Given the description of an element on the screen output the (x, y) to click on. 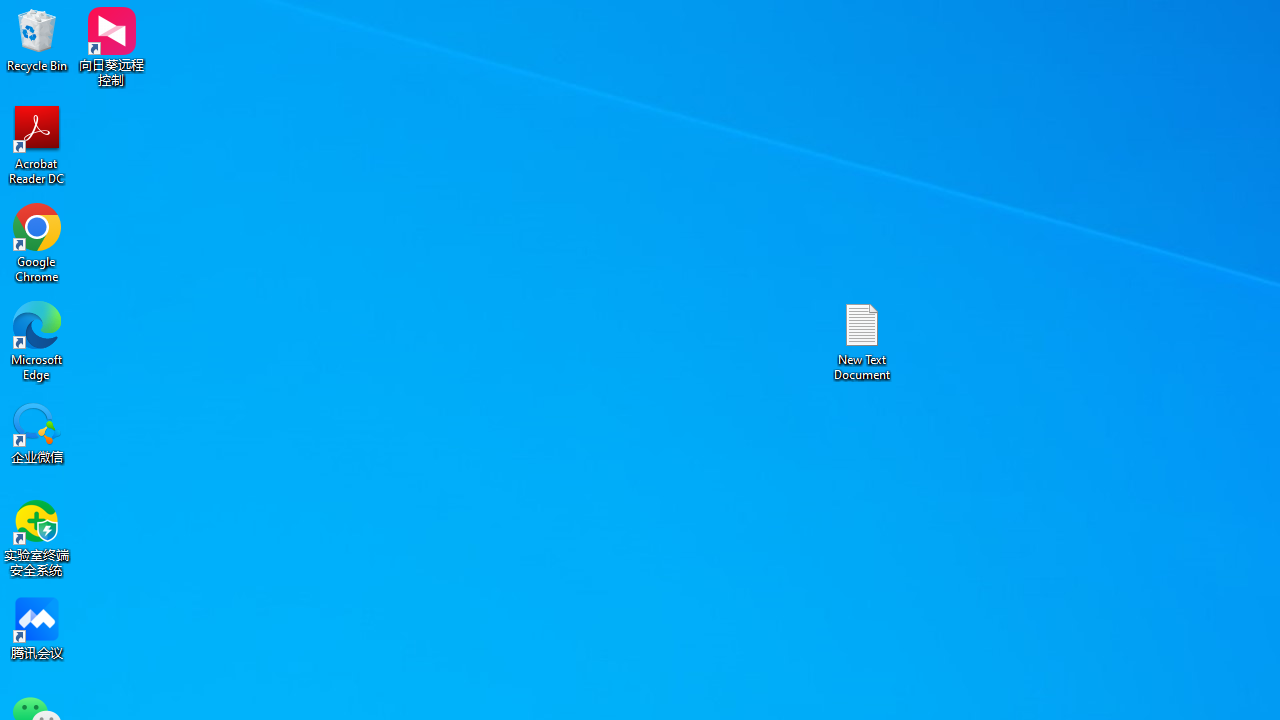
Microsoft Edge (37, 340)
Acrobat Reader DC (37, 144)
Recycle Bin (37, 39)
New Text Document (861, 340)
Google Chrome (37, 242)
